Given the description of an element on the screen output the (x, y) to click on. 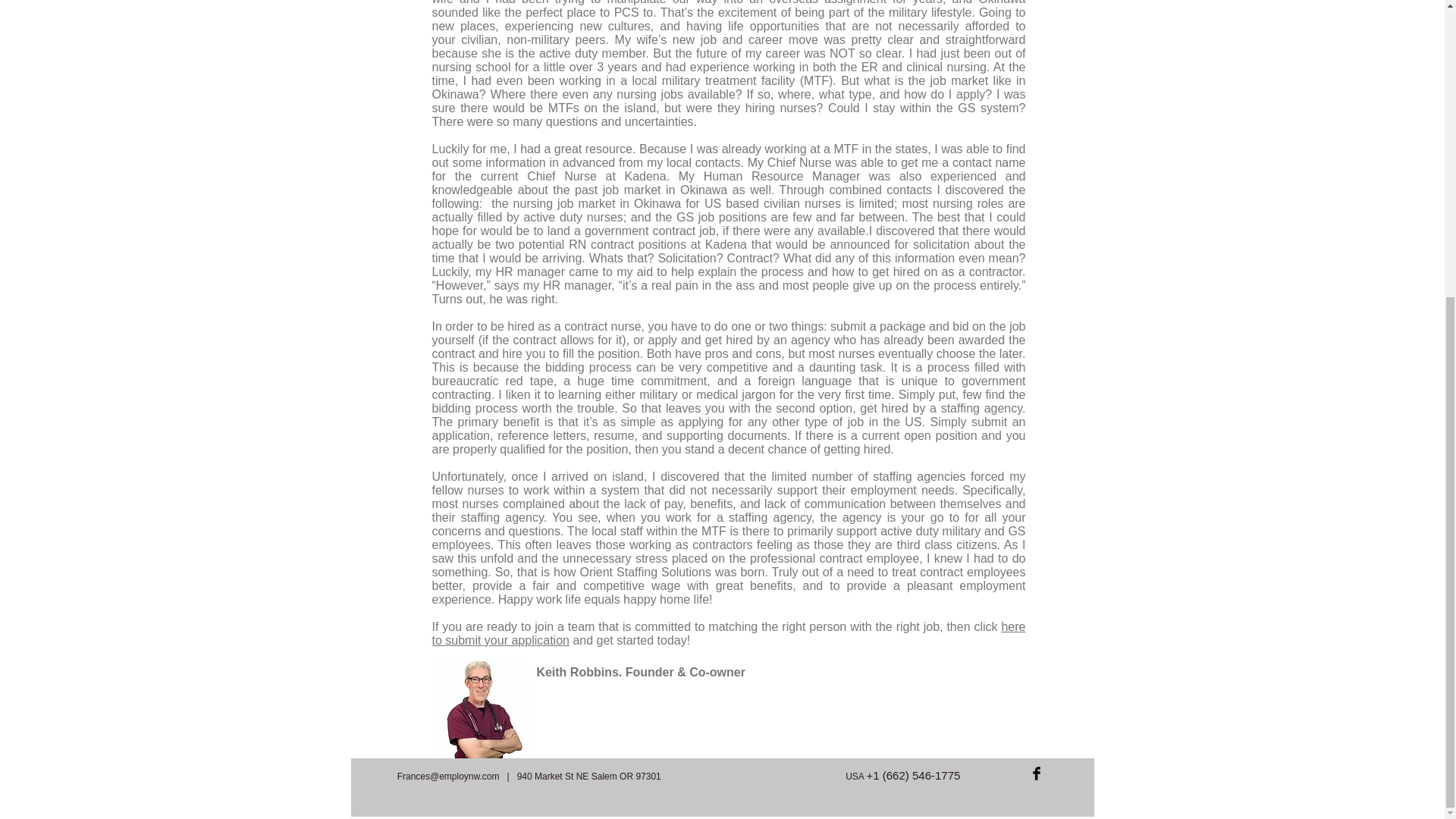
here to submit your application (729, 633)
